Given the description of an element on the screen output the (x, y) to click on. 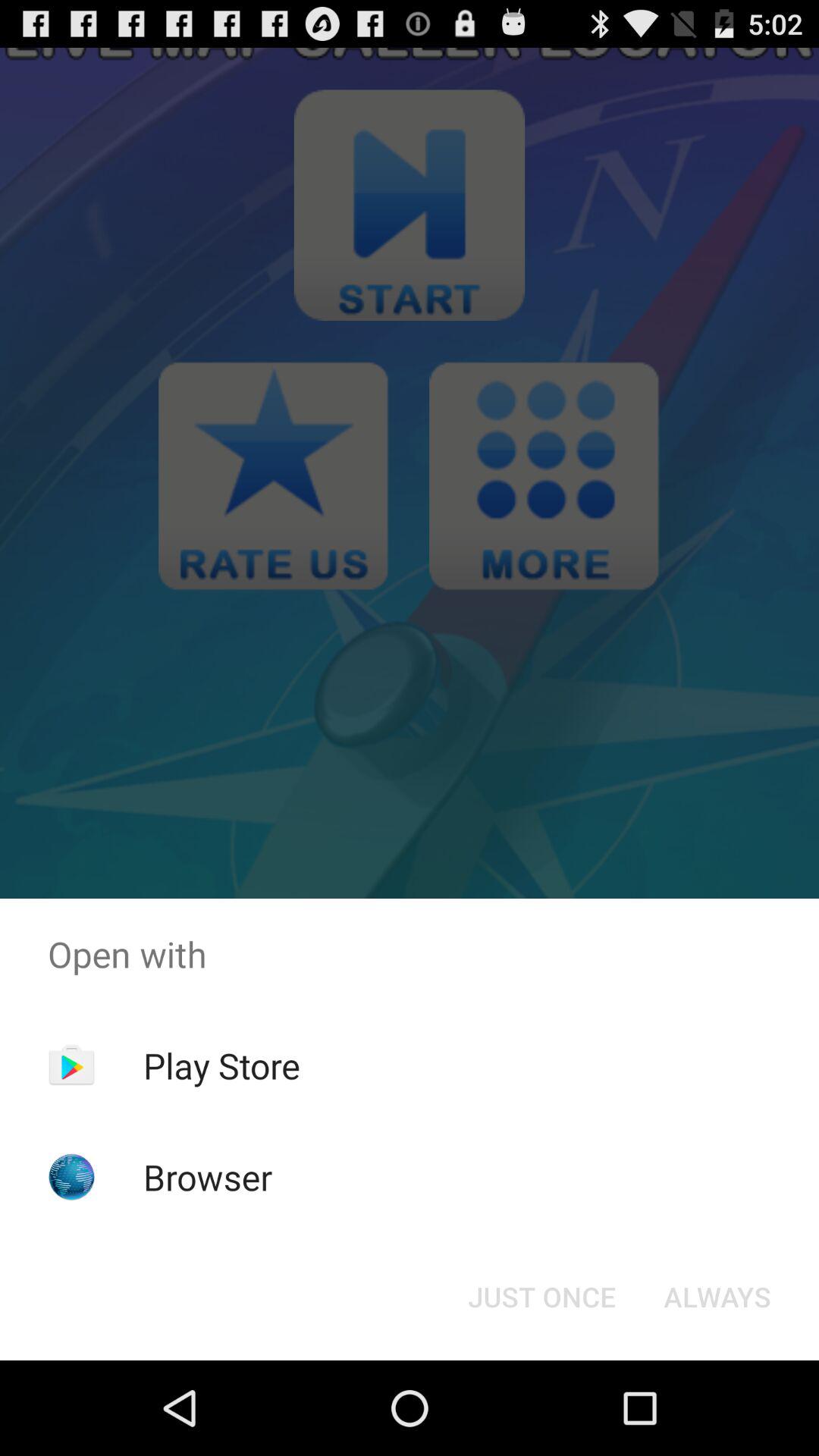
launch item below open with icon (717, 1296)
